Given the description of an element on the screen output the (x, y) to click on. 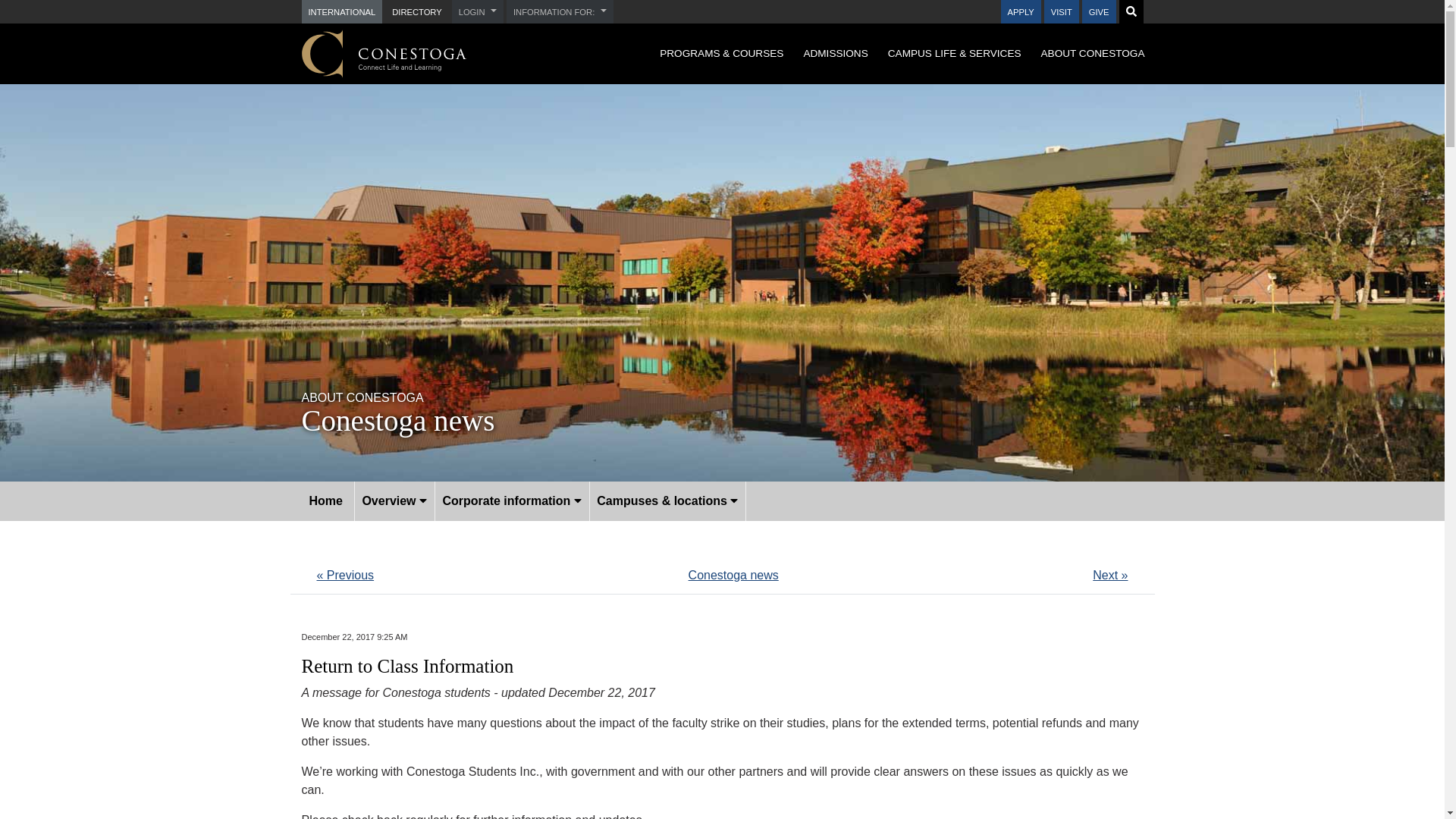
search site (1130, 10)
SEARCH SITE (1130, 10)
